Given the description of an element on the screen output the (x, y) to click on. 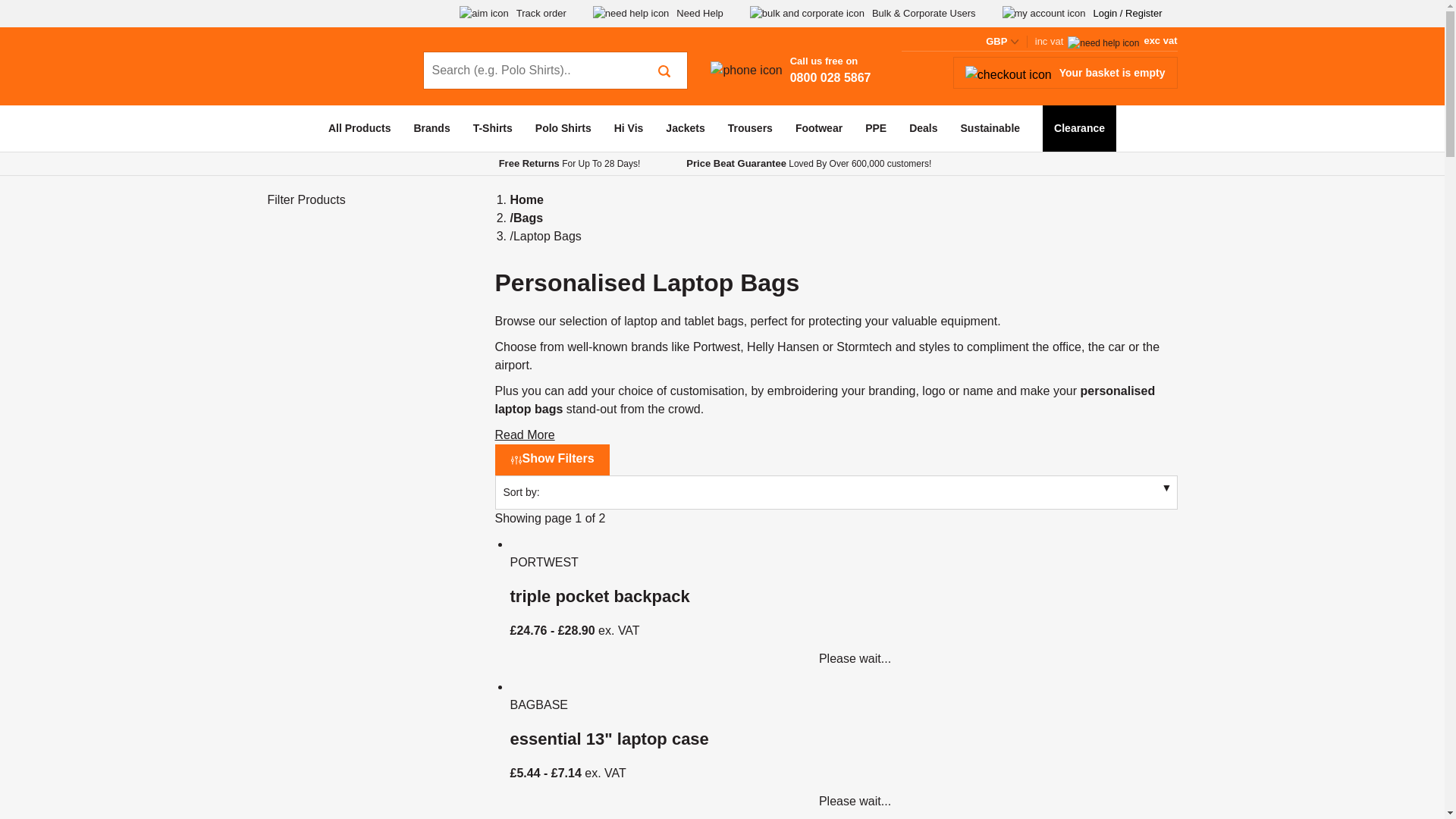
GBP (1002, 41)
Track order (513, 13)
Your basket is empty (1065, 72)
 essential 13" laptop case (842, 735)
All Products (359, 128)
Sorter (790, 70)
 triple pocket backpack (835, 492)
Need Help (842, 592)
